Given the description of an element on the screen output the (x, y) to click on. 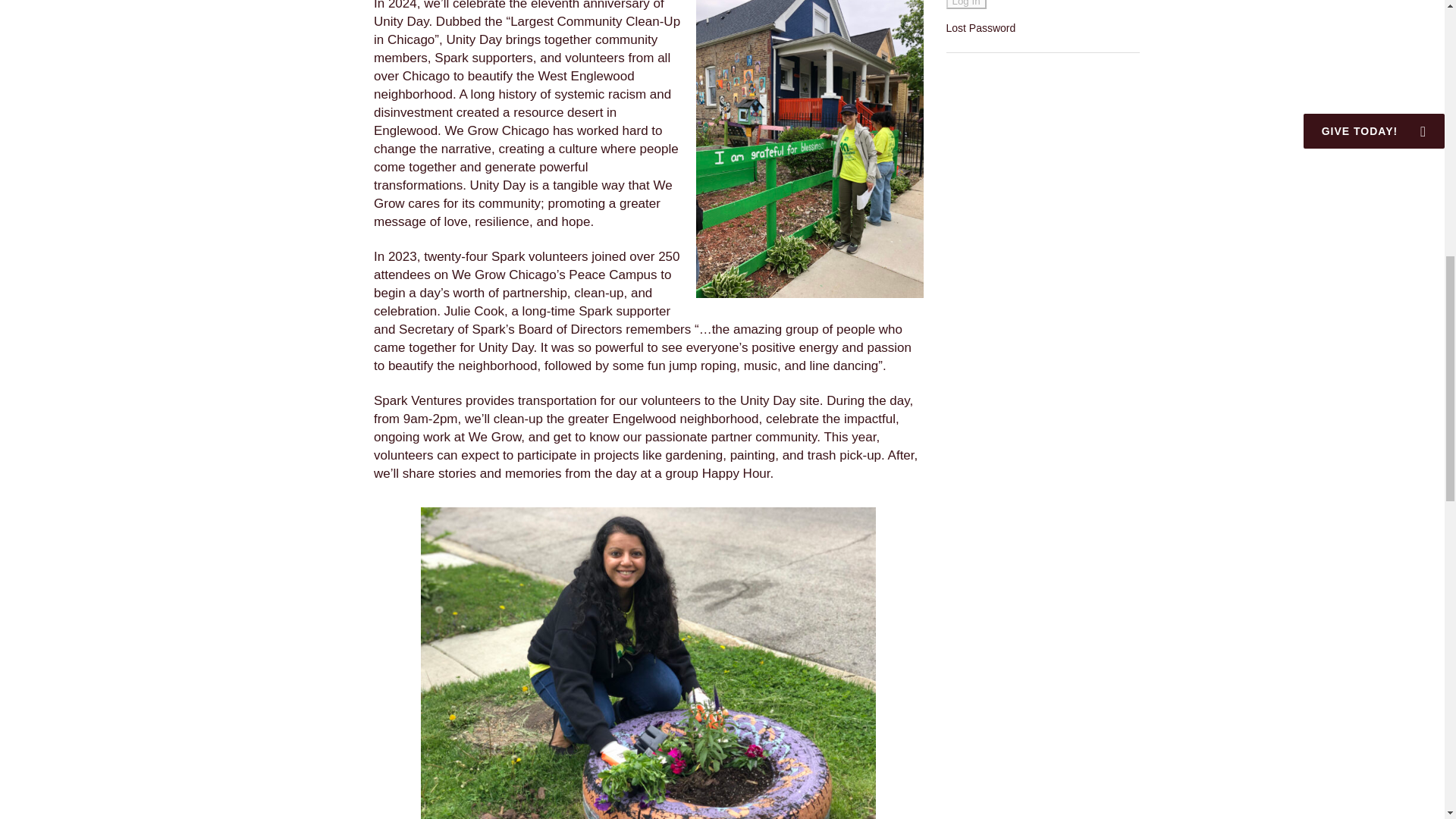
Log In (966, 4)
